Given the description of an element on the screen output the (x, y) to click on. 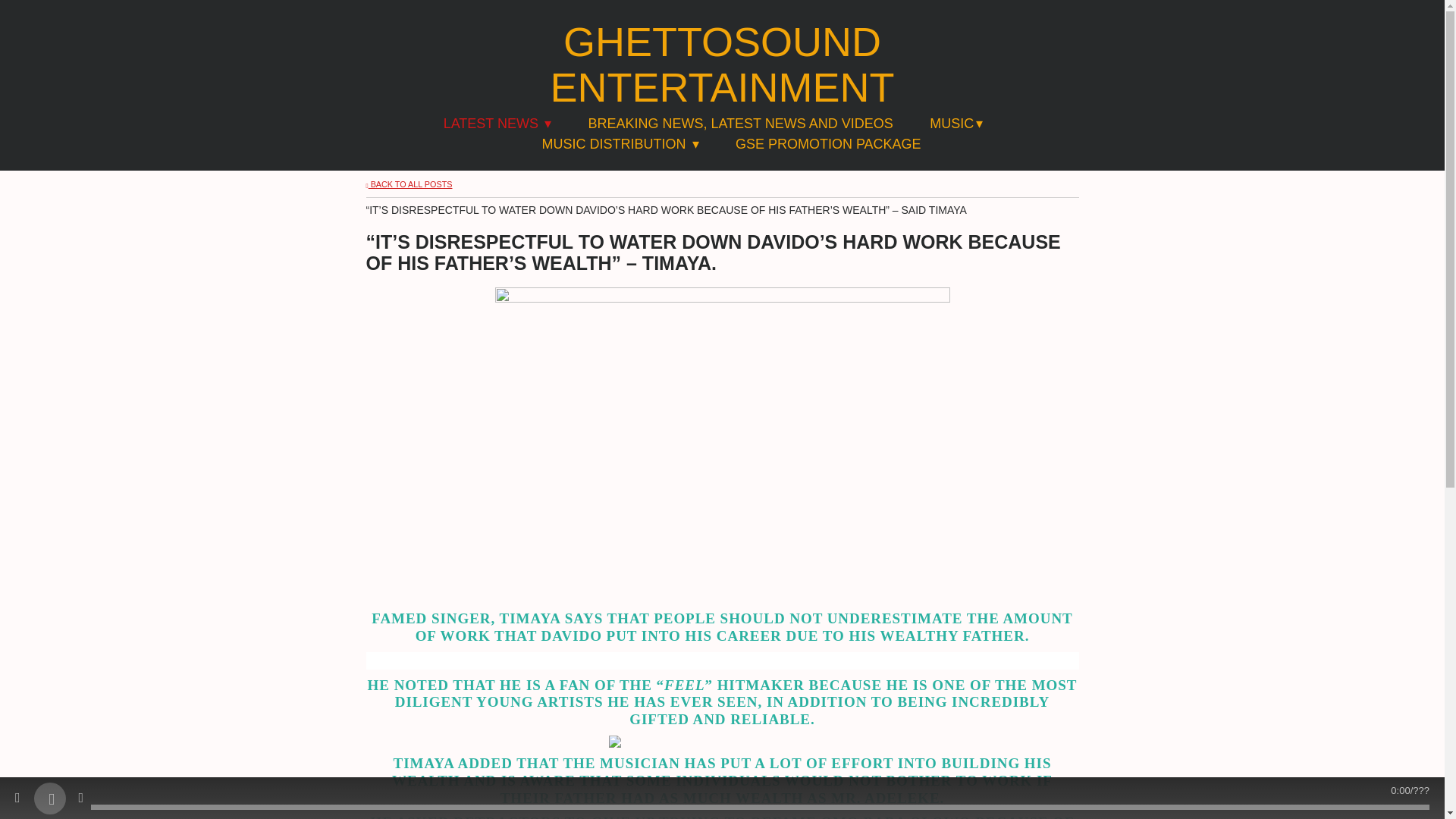
MUSIC DISTRIBUTION (619, 144)
BACK TO ALL POSTS (408, 184)
GSE PROMOTION PACKAGE (828, 144)
LATEST NEWS (497, 123)
MUSIC (956, 123)
GHETTOSOUND ENTERTAINMENT (722, 64)
BREAKING NEWS, LATEST NEWS AND VIDEOS (740, 123)
